Given the description of an element on the screen output the (x, y) to click on. 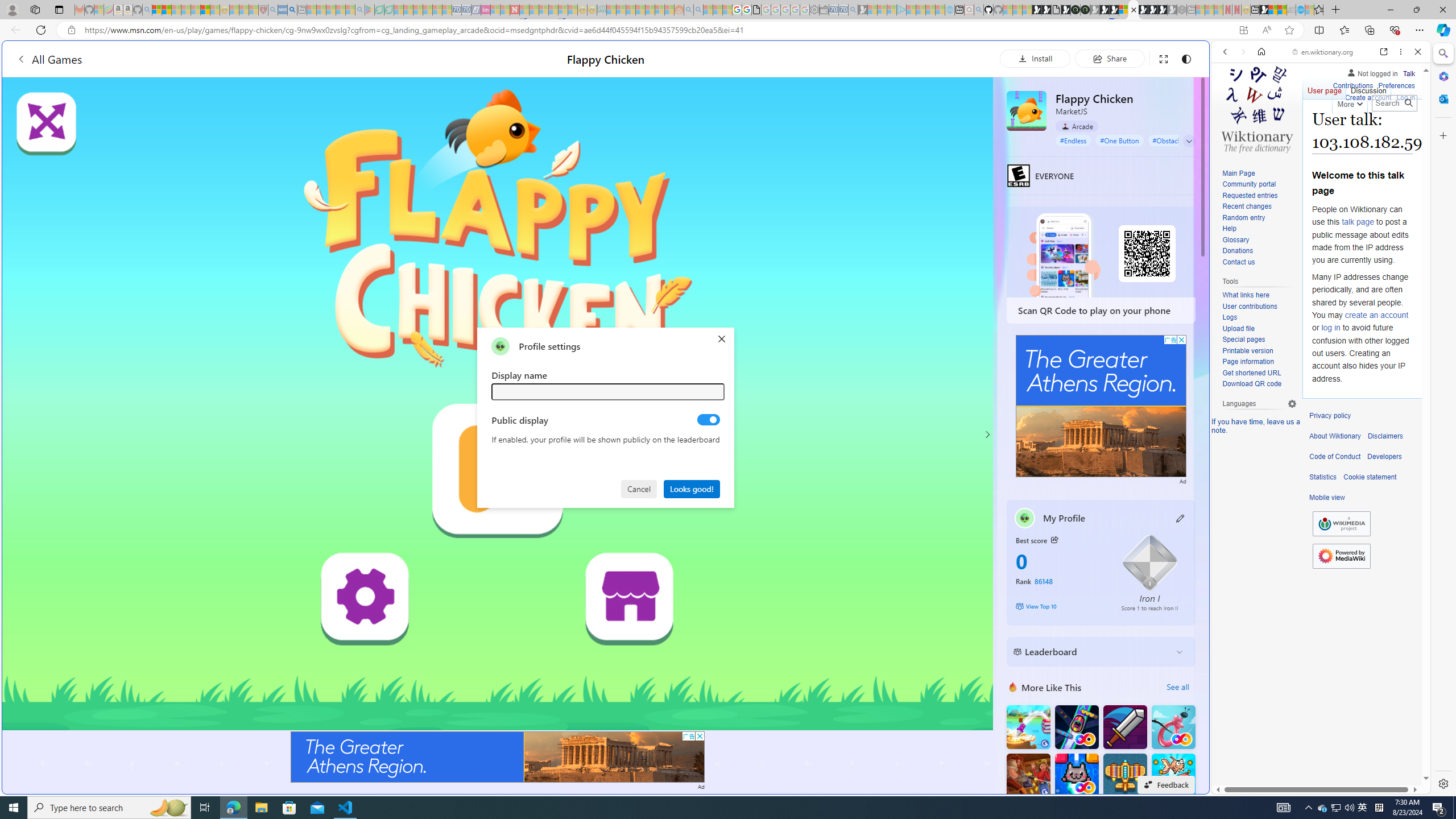
Contact us (1259, 262)
Contributions (1352, 85)
Upload file (1259, 328)
User contributions (1259, 306)
Main Page (1259, 173)
Page information (1247, 361)
Home | Sky Blue Bikes - Sky Blue Bikes (1118, 242)
AutomationID: canvas (497, 403)
Mobile view (1326, 497)
Mobile view (1326, 497)
All Games (212, 58)
